Given the description of an element on the screen output the (x, y) to click on. 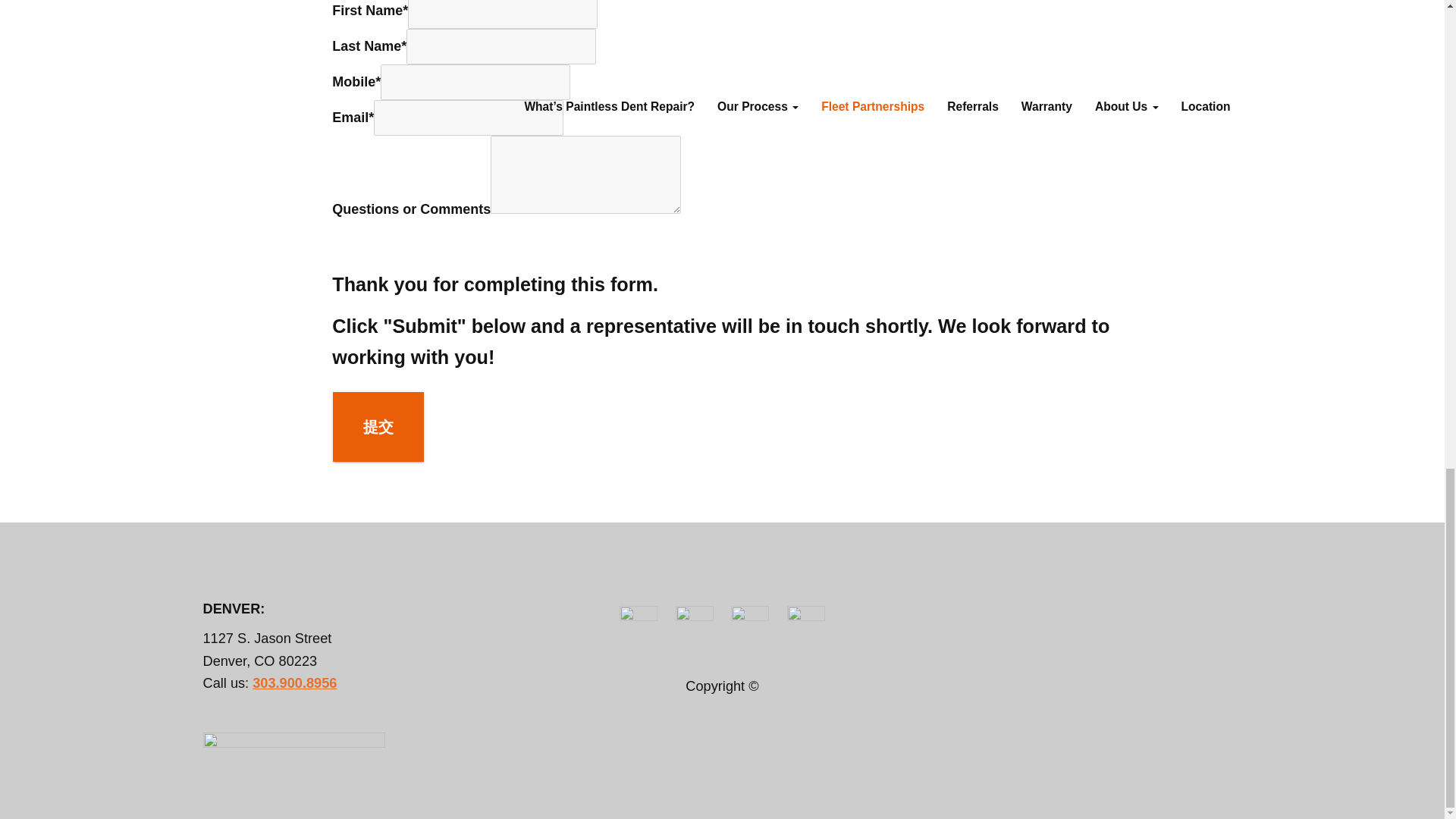
303.900.8956 (293, 683)
